Given the description of an element on the screen output the (x, y) to click on. 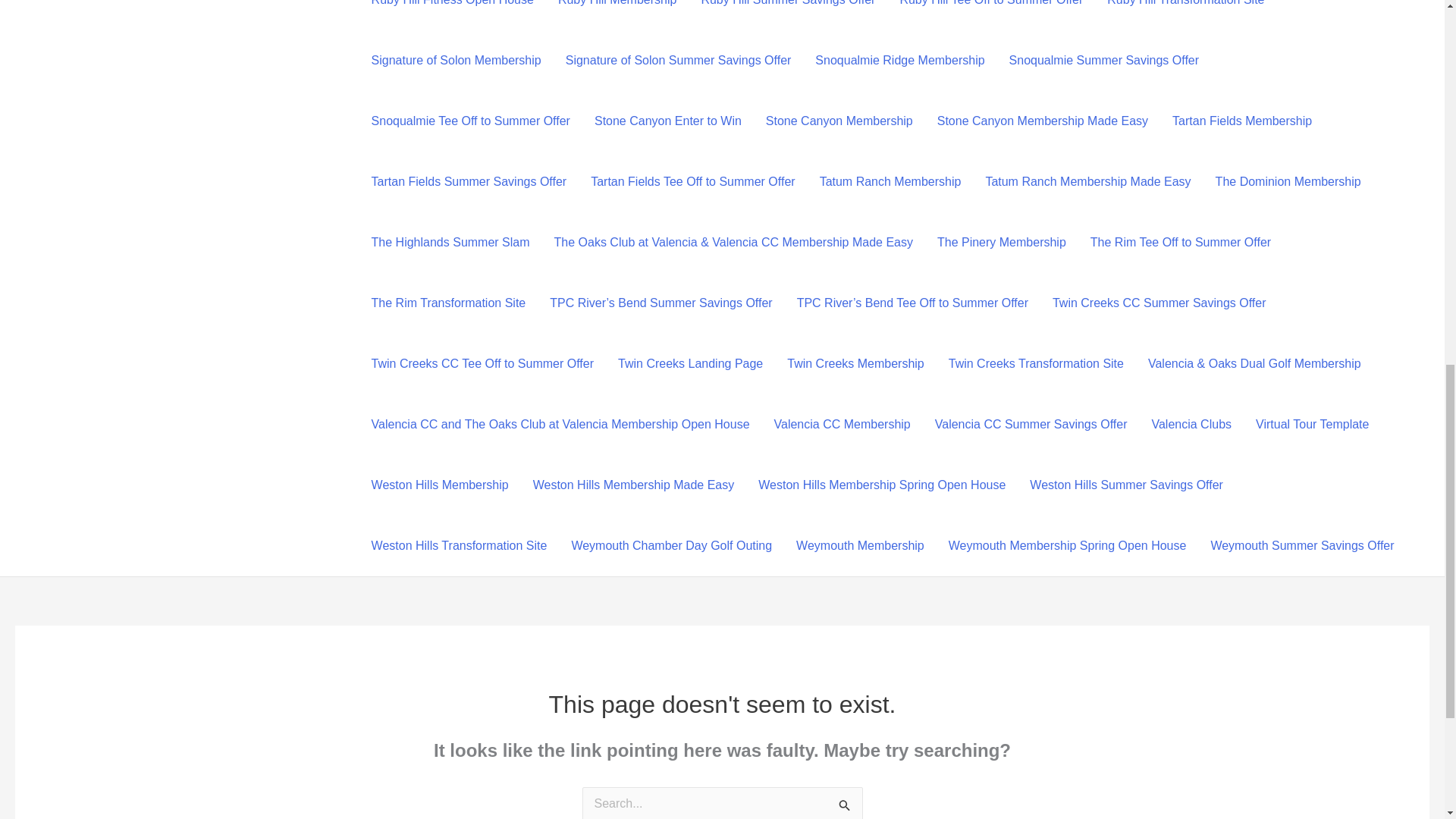
Search (844, 803)
Search (844, 803)
